Given the description of an element on the screen output the (x, y) to click on. 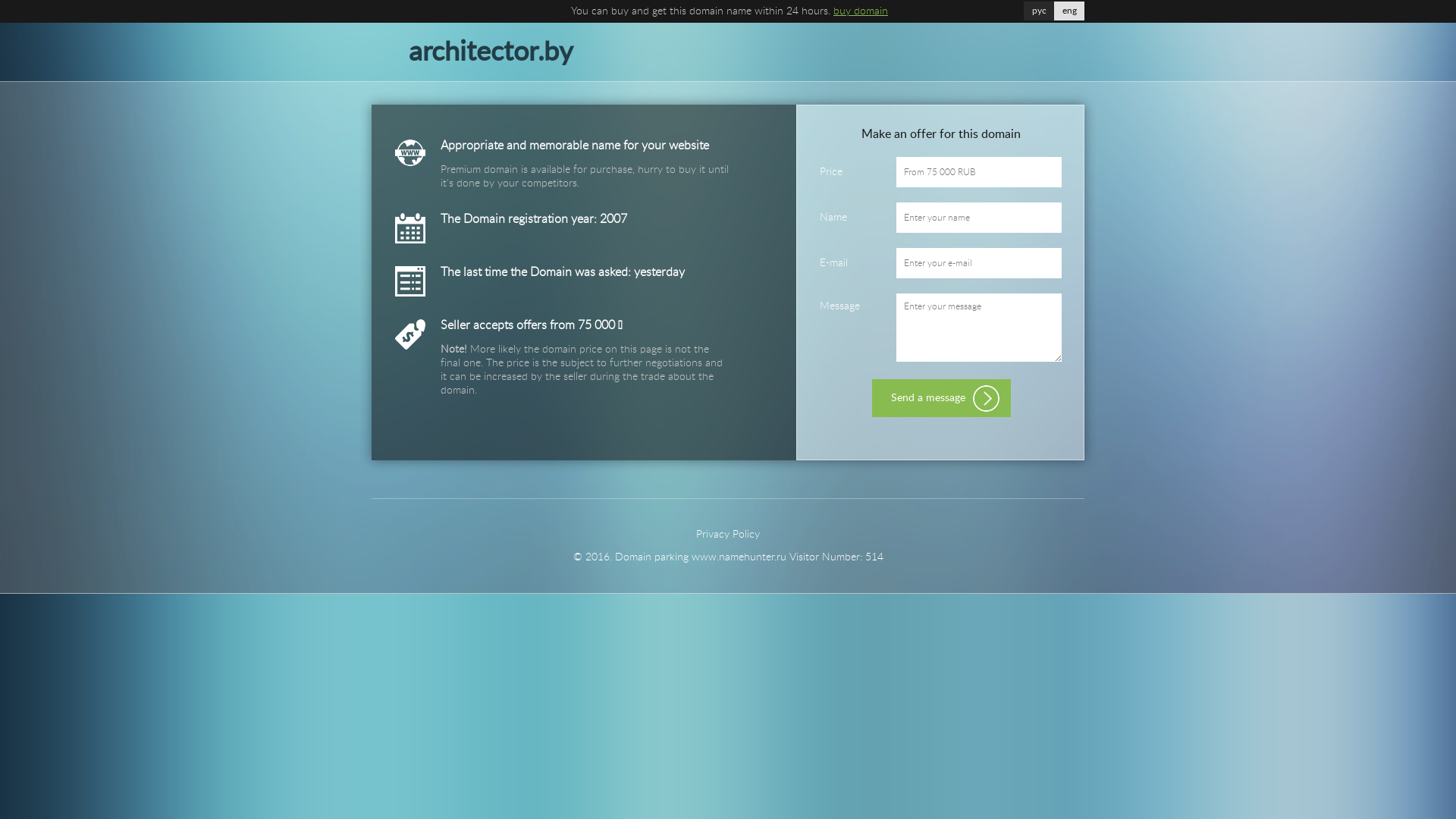
Send a message Element type: text (941, 398)
www.namehunter.ru Element type: text (738, 557)
Privacy Policy Element type: text (727, 534)
buy domain Element type: text (860, 11)
